Given the description of an element on the screen output the (x, y) to click on. 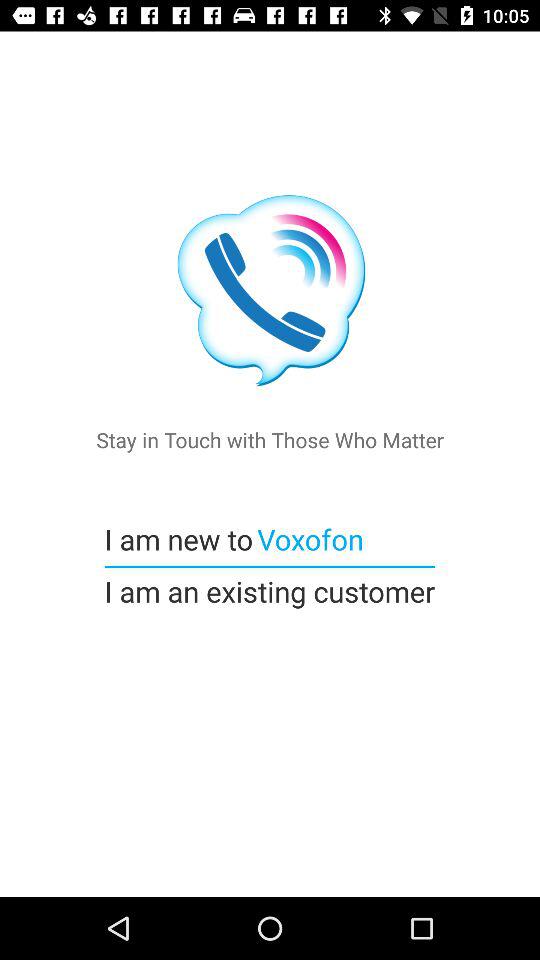
tap the item to the right of the i am new icon (308, 538)
